Given the description of an element on the screen output the (x, y) to click on. 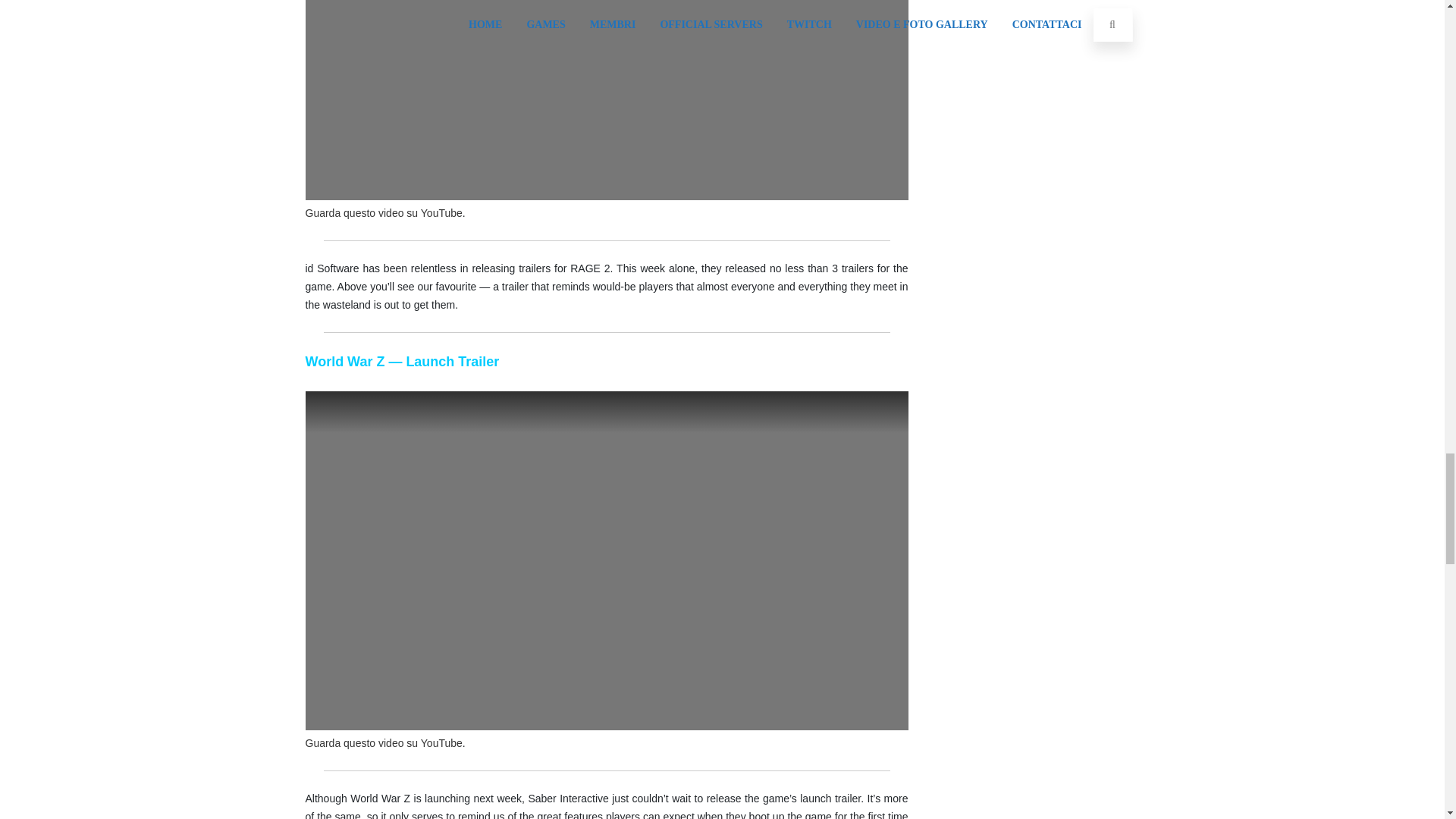
RAGE 2 - Everything vs Me Official Trailer PEGI (605, 99)
